Given the description of an element on the screen output the (x, y) to click on. 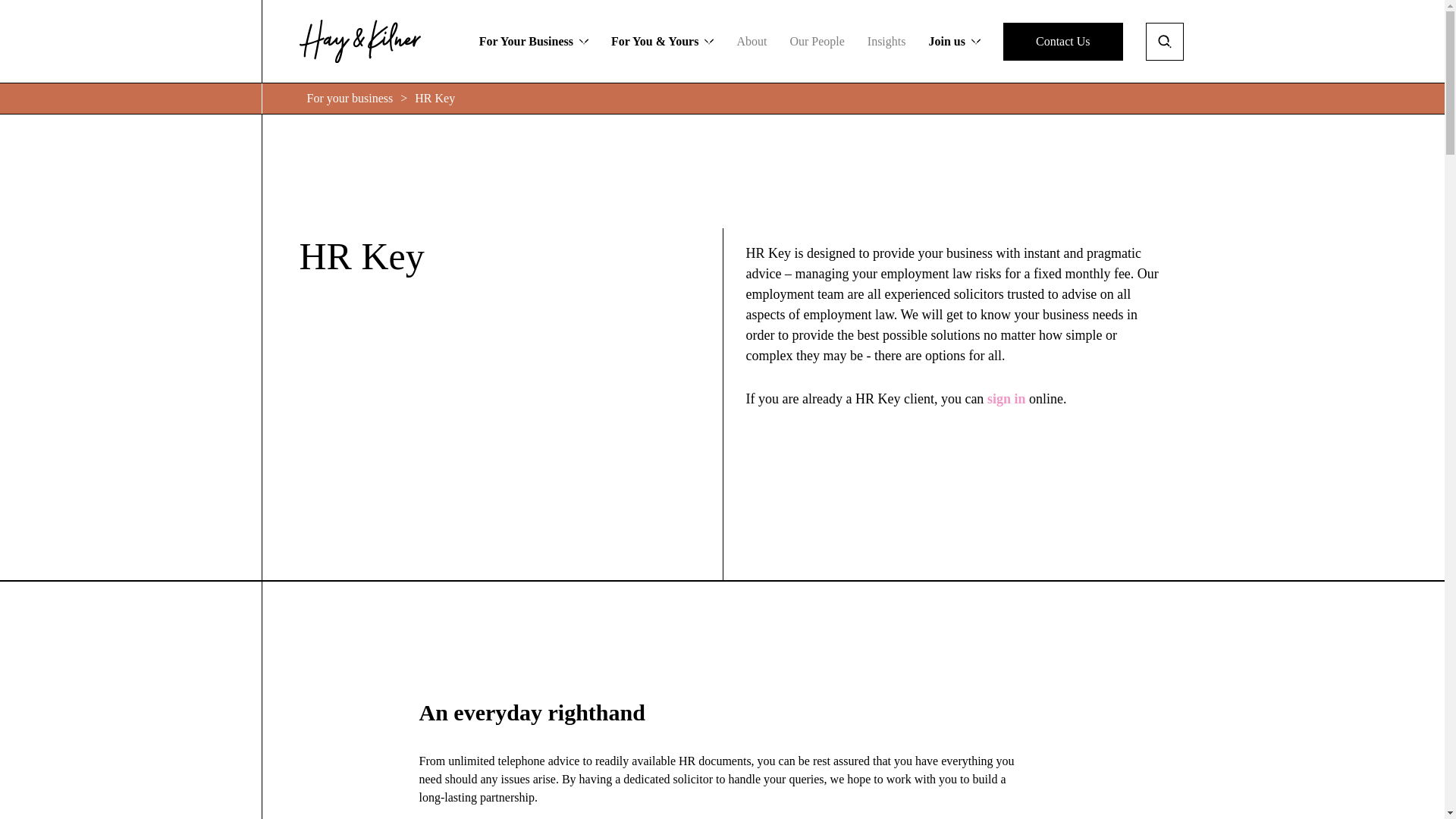
About (751, 40)
For Your Business (533, 40)
Join us (1062, 41)
Our People (953, 40)
Insights (816, 40)
